Given the description of an element on the screen output the (x, y) to click on. 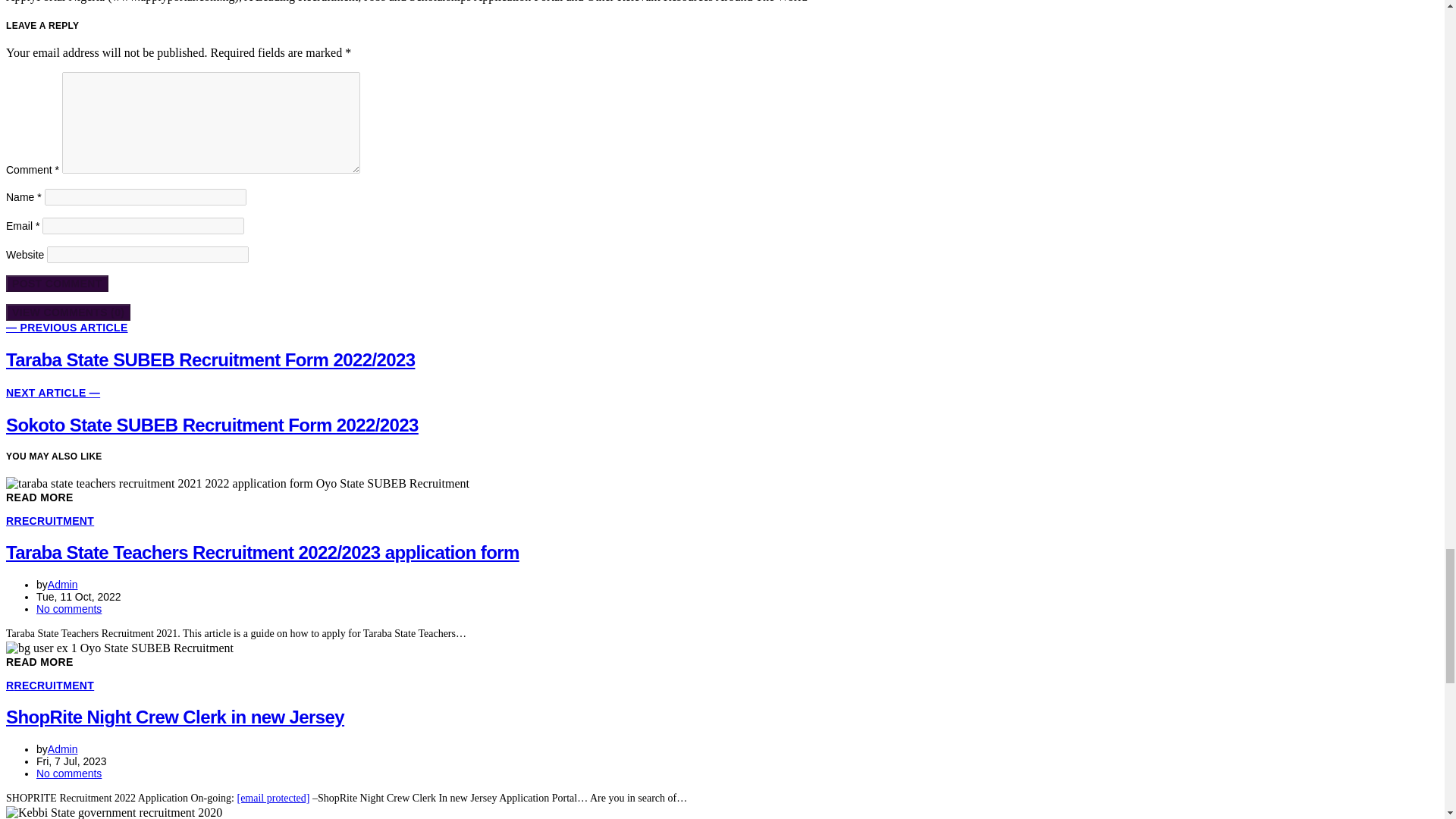
Post Comment (56, 283)
ShopRite Night Crew Clerk in new Jersey 3 (118, 648)
View all posts by Admin (63, 748)
View all posts by Admin (63, 584)
Post Comment (56, 283)
